Given the description of an element on the screen output the (x, y) to click on. 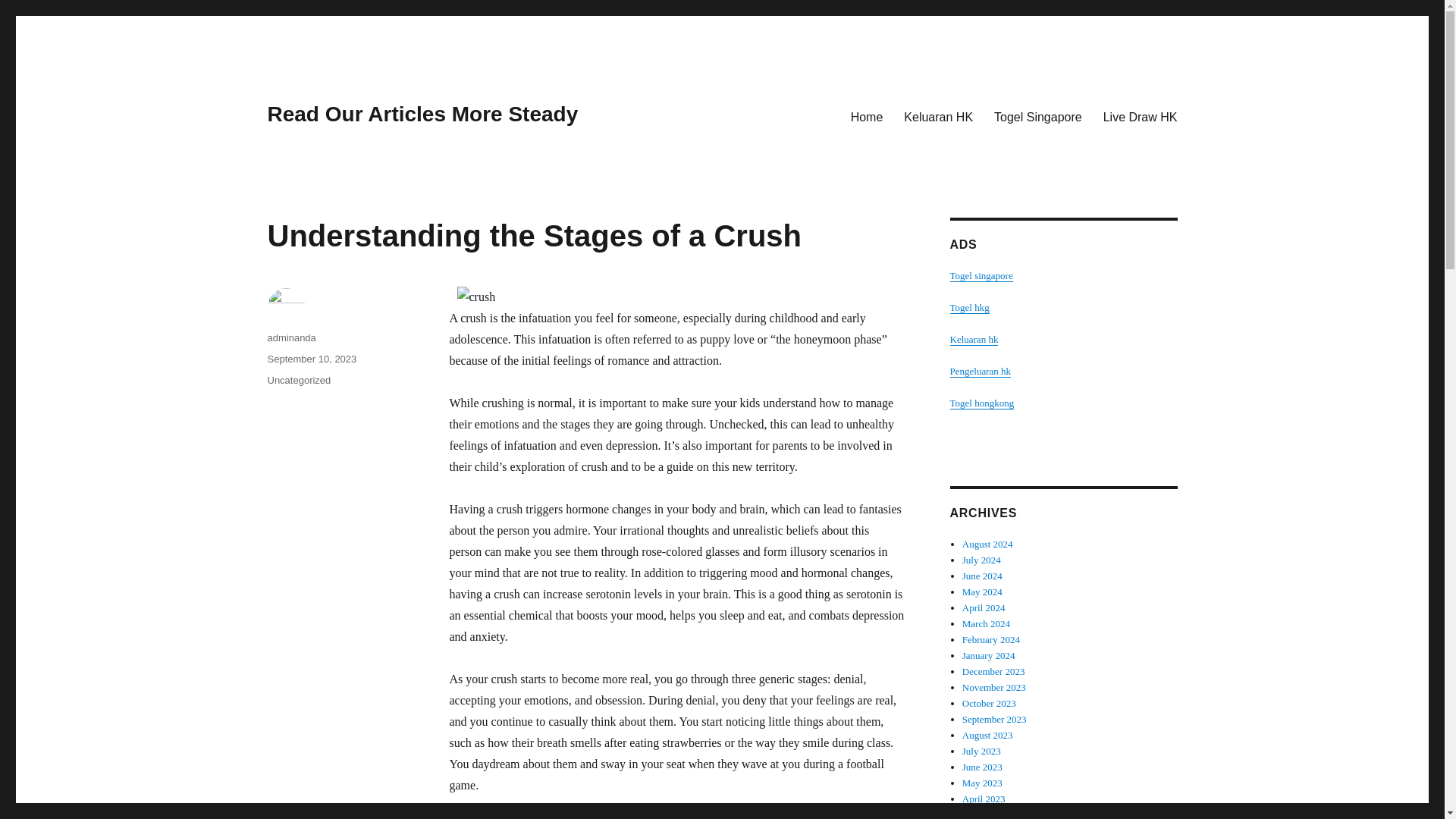
October 2023 (989, 703)
September 2023 (994, 718)
Home (866, 116)
February 2024 (991, 639)
May 2024 (982, 591)
Keluaran HK (938, 116)
June 2024 (982, 575)
January 2024 (988, 655)
July 2024 (981, 559)
Togel Singapore (1038, 116)
March 2024 (986, 623)
Uncategorized (298, 379)
adminanda (290, 337)
March 2023 (986, 814)
November 2023 (994, 686)
